Given the description of an element on the screen output the (x, y) to click on. 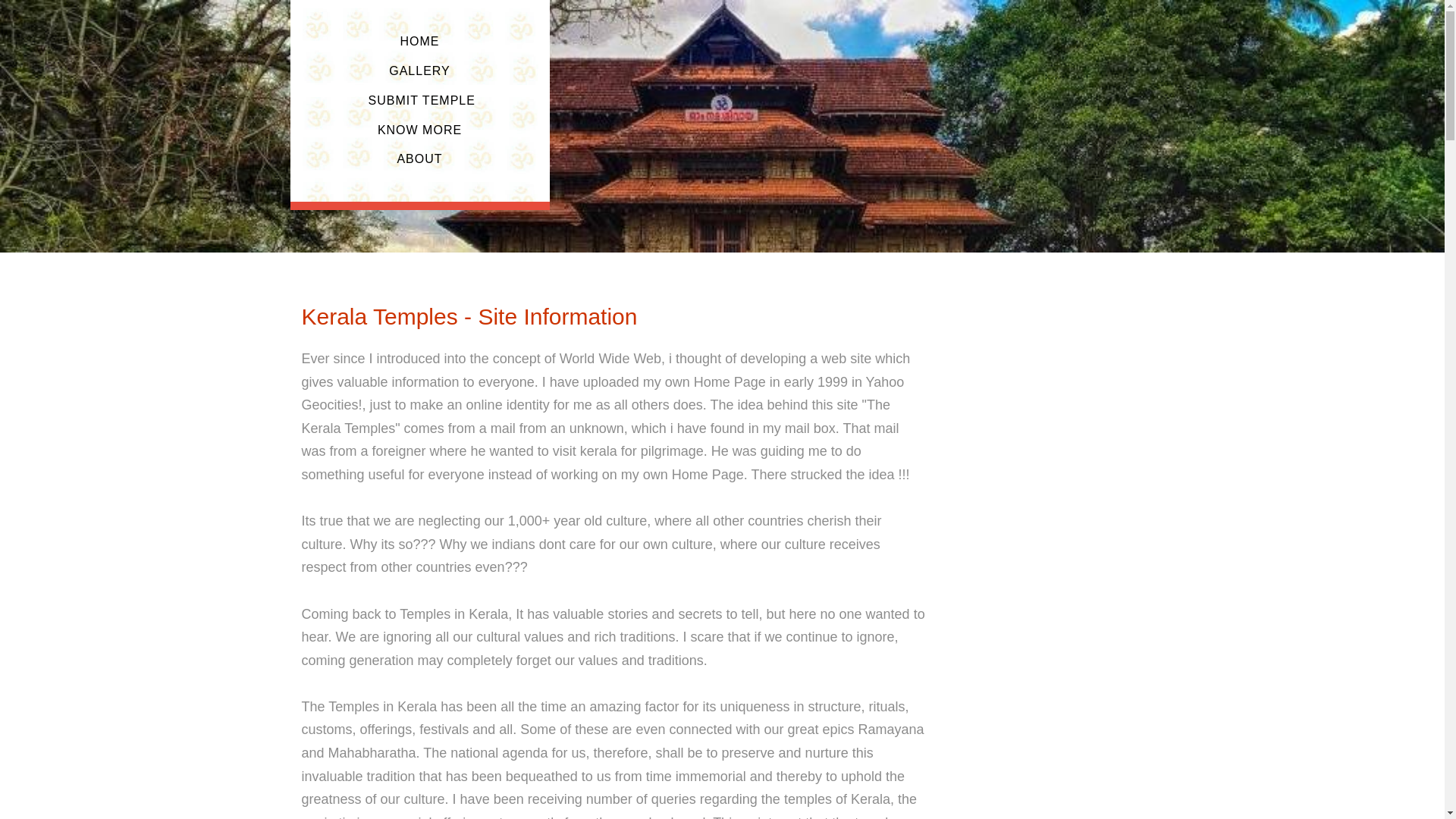
ABOUT (419, 158)
SUBMIT TEMPLE (419, 100)
GALLERY (419, 70)
KNOW MORE (419, 129)
HOME (419, 41)
